Given the description of an element on the screen output the (x, y) to click on. 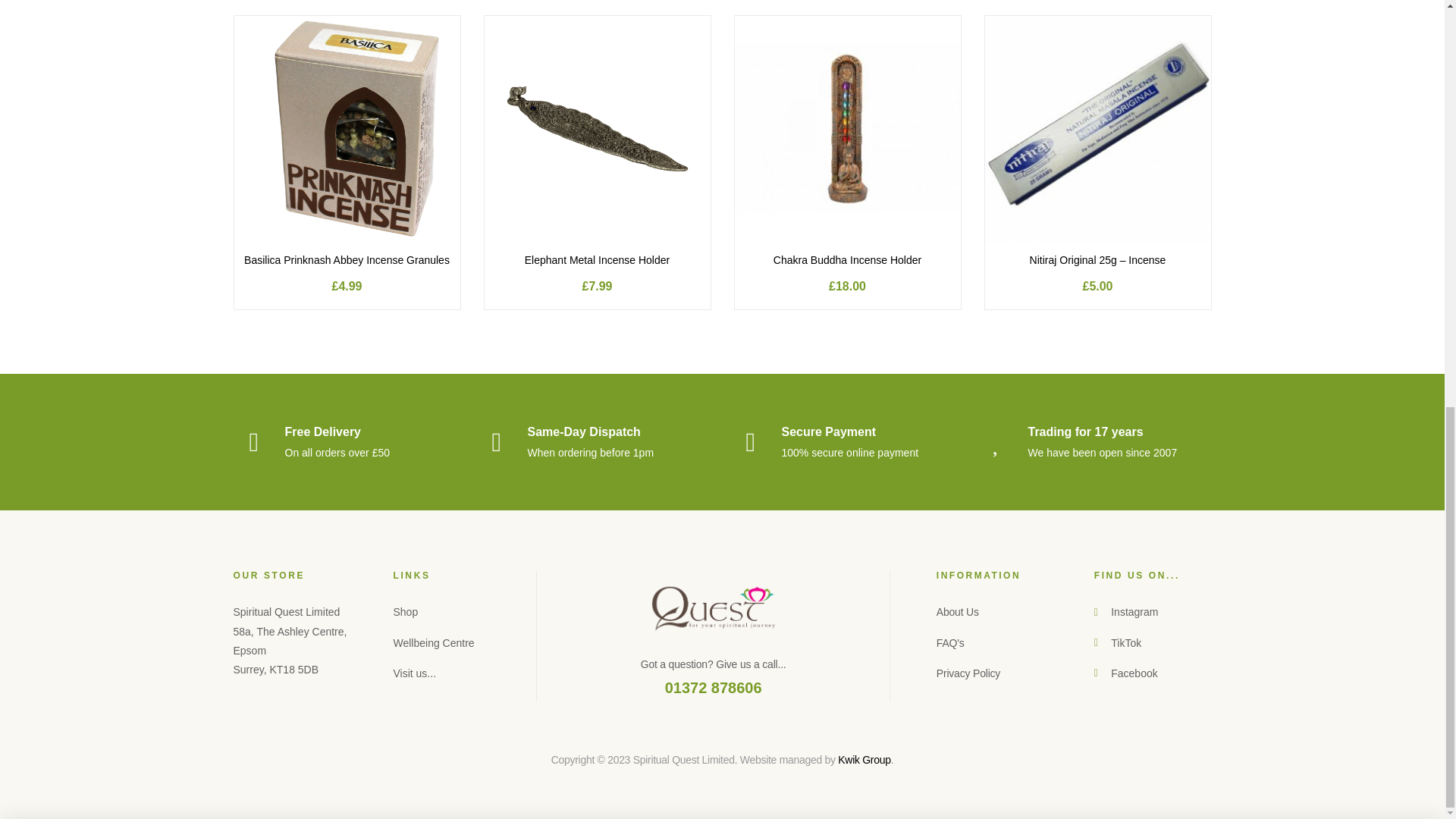
Basilica Prinknash Abbey Incense Granules (346, 260)
